Given the description of an element on the screen output the (x, y) to click on. 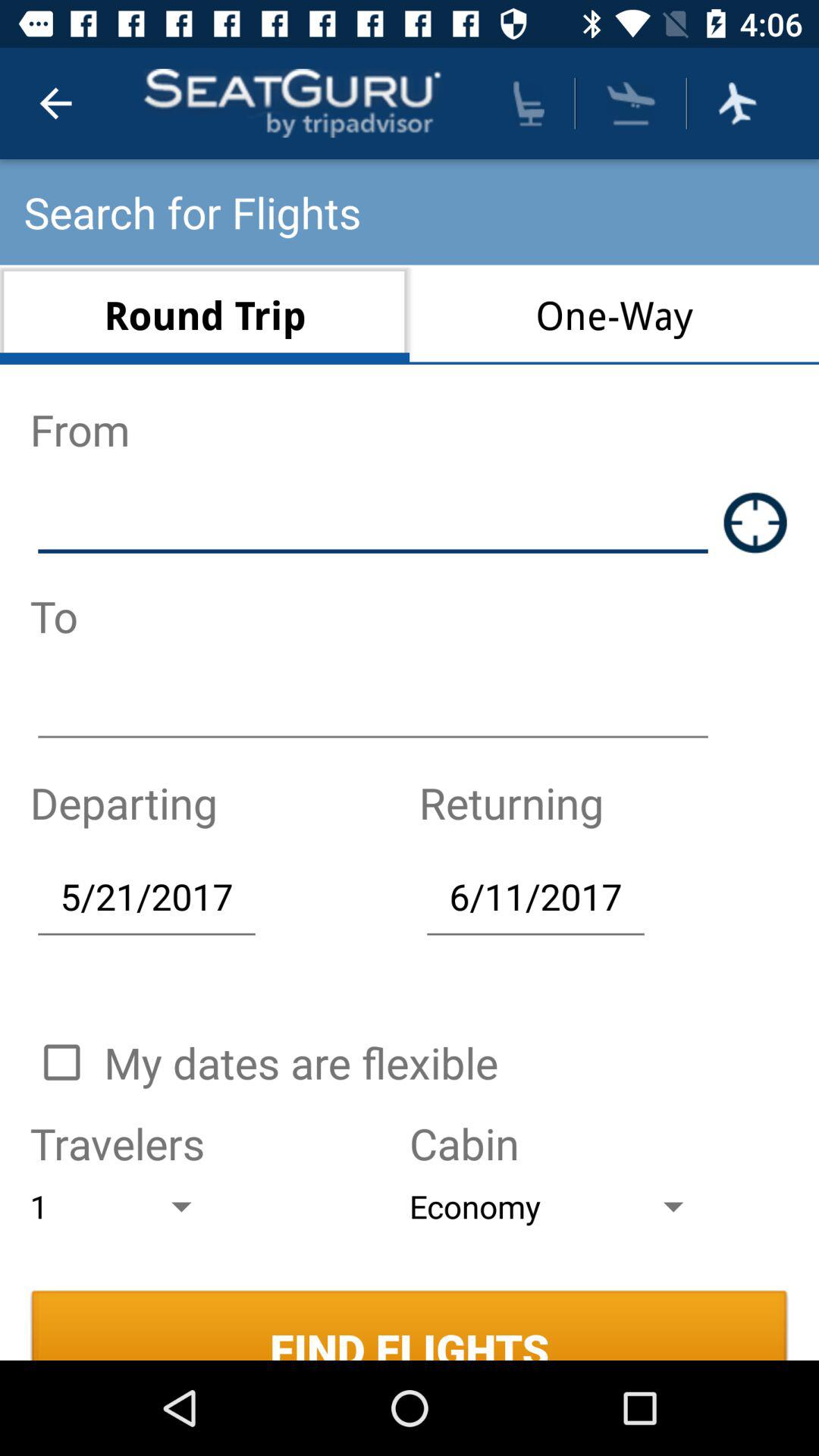
enter location (755, 522)
